Given the description of an element on the screen output the (x, y) to click on. 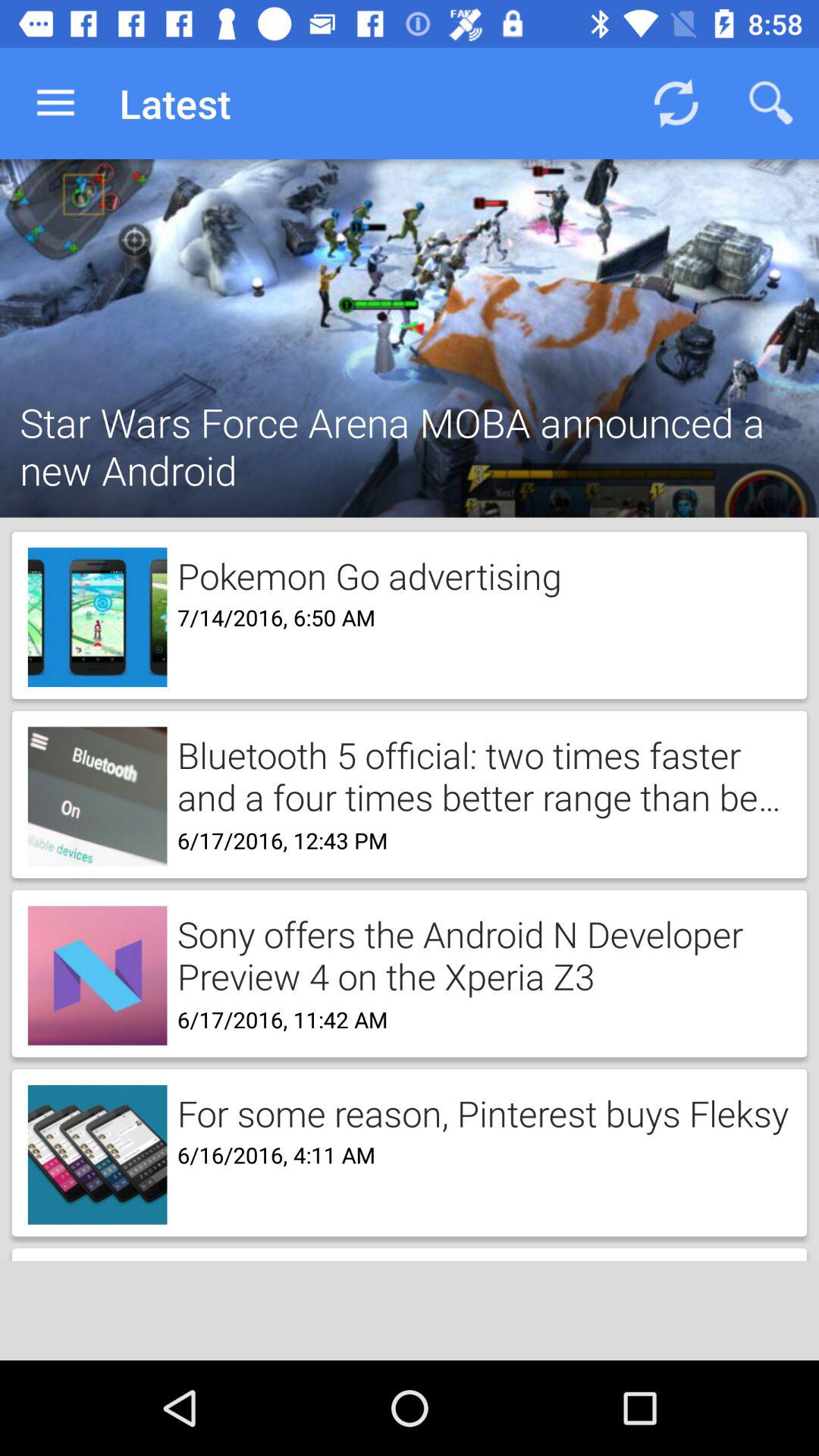
click for some reason (477, 1111)
